Given the description of an element on the screen output the (x, y) to click on. 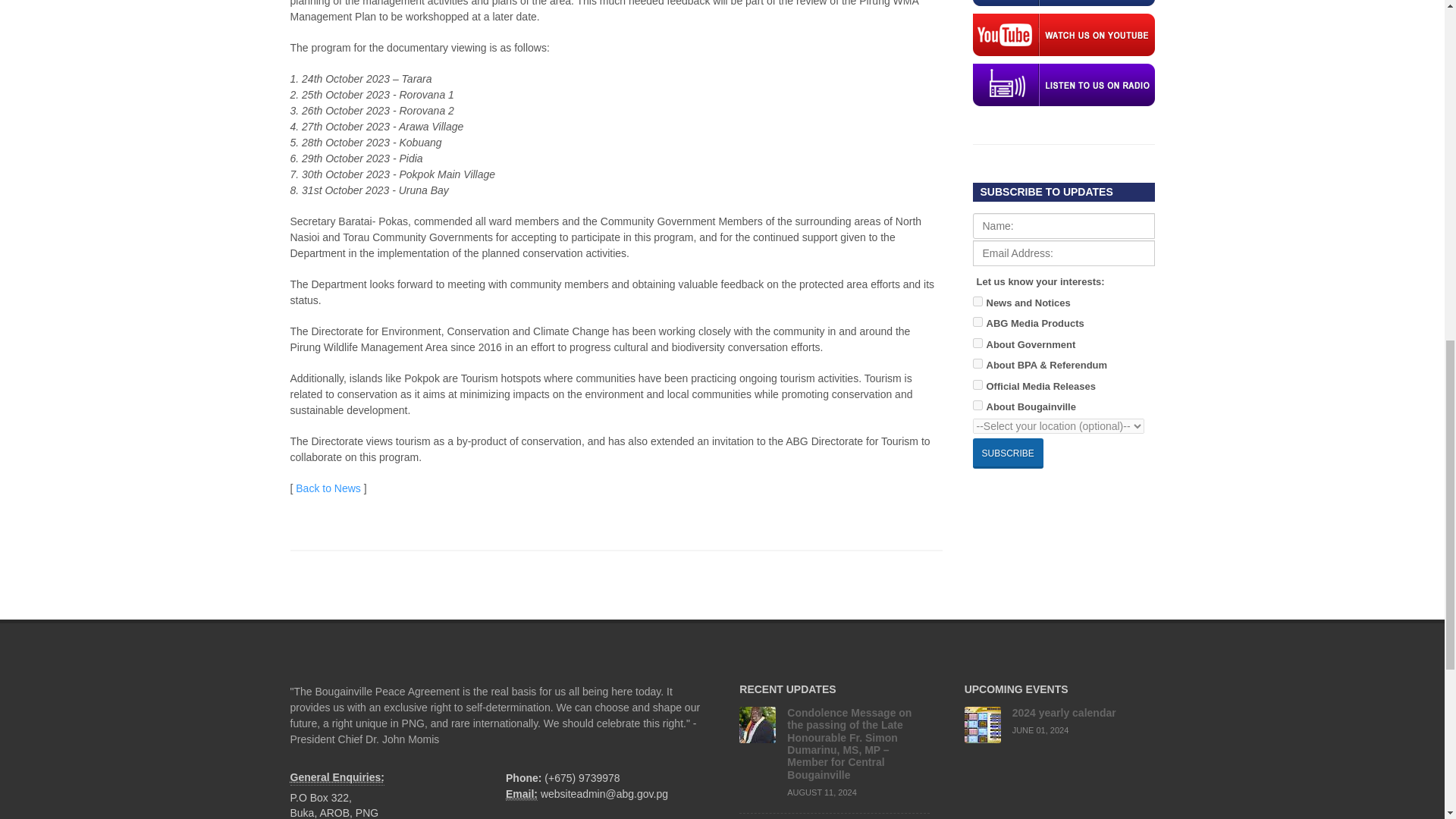
475946 (976, 321)
475949 (976, 384)
475947 (976, 363)
475948 (976, 343)
Headquarters (336, 778)
475945 (976, 301)
475950 (976, 405)
